Given the description of an element on the screen output the (x, y) to click on. 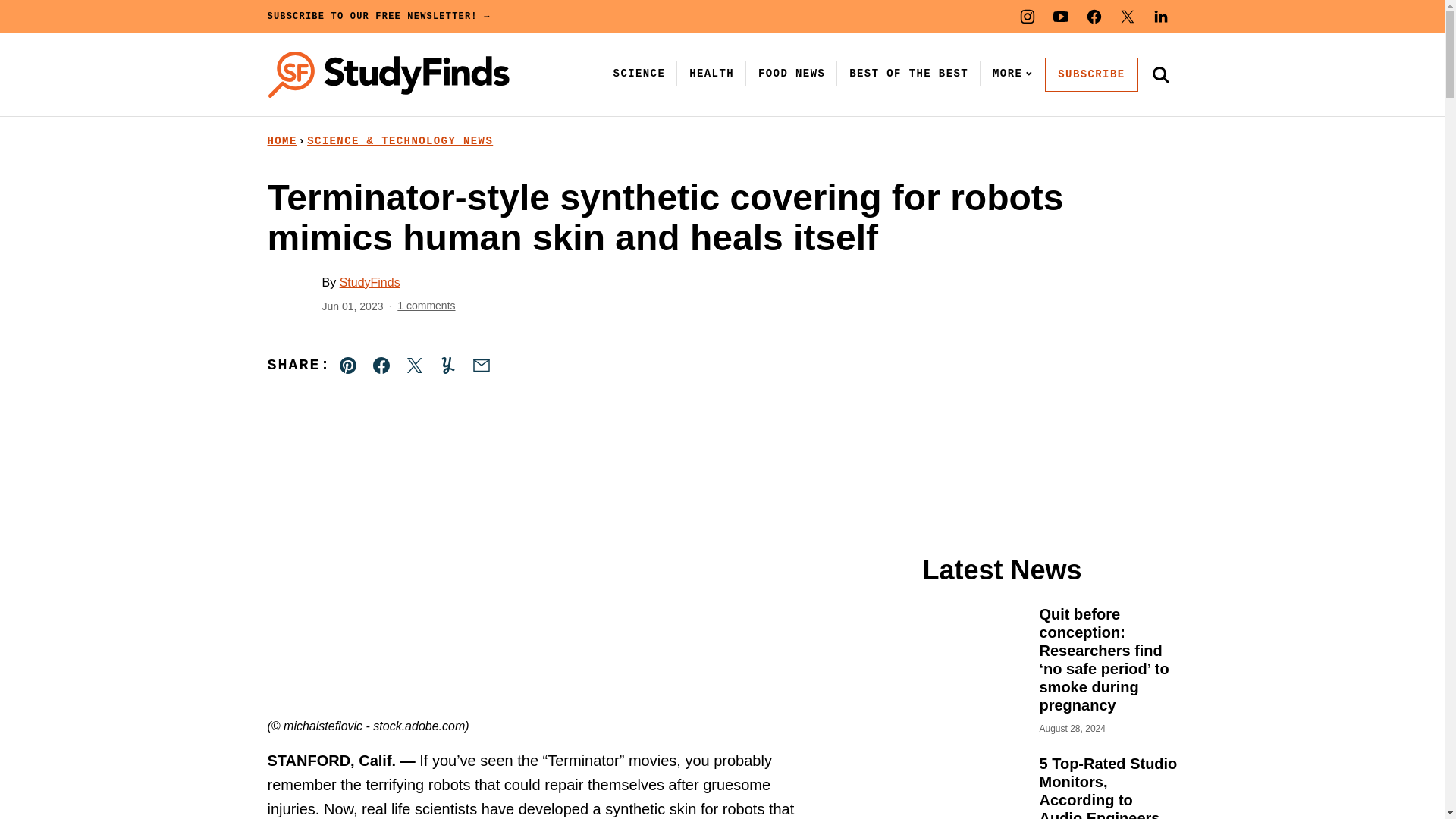
Share on Yummly (447, 365)
HOME (281, 141)
Share on Pinterest (348, 365)
FOOD NEWS (791, 73)
MORE (1009, 73)
Share on Facebook (381, 365)
BEST OF THE BEST (908, 73)
Share on Twitter (413, 365)
Share via Email (480, 365)
SCIENCE (639, 73)
